Given the description of an element on the screen output the (x, y) to click on. 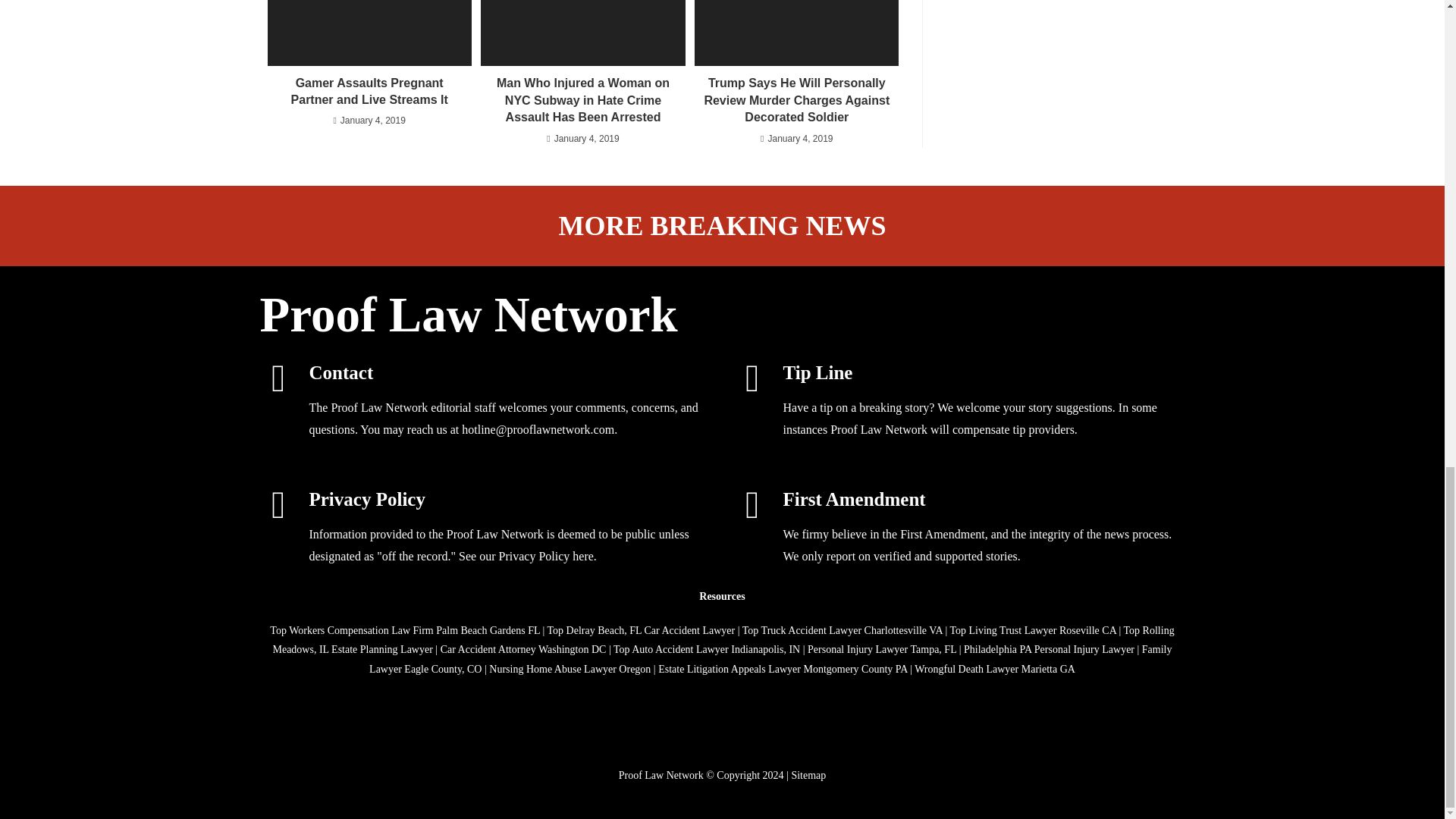
Gamer Assaults Pregnant Partner and Live Streams It (368, 91)
